Given the description of an element on the screen output the (x, y) to click on. 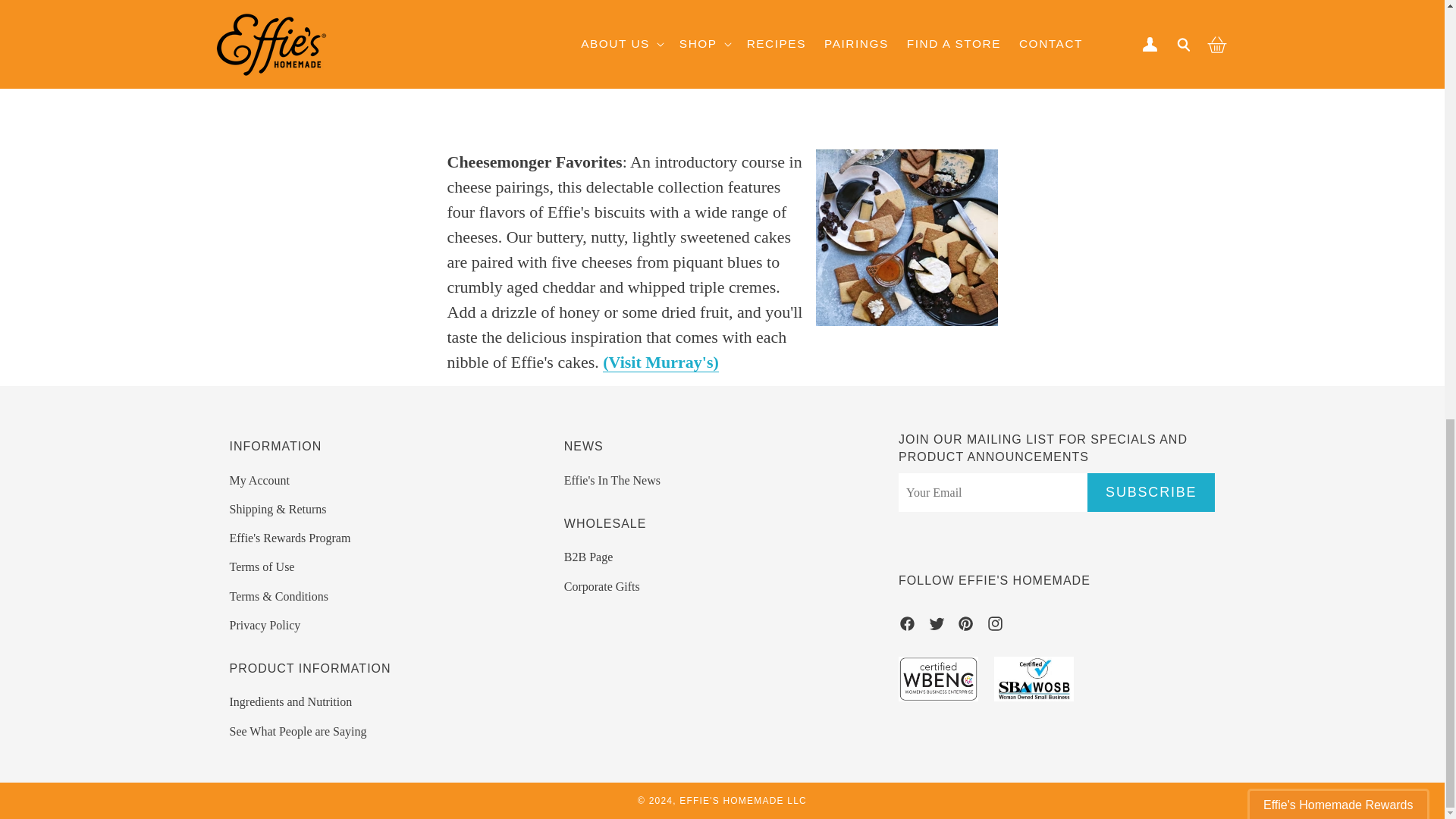
Cheesemonger Favorites at Murray's Cheese (660, 362)
Pinterest (965, 626)
Facebook (906, 626)
Instagram (995, 626)
Twitter (936, 626)
Goat Lover's Delight Gift Pack at Murray's Cheese (645, 62)
